Given the description of an element on the screen output the (x, y) to click on. 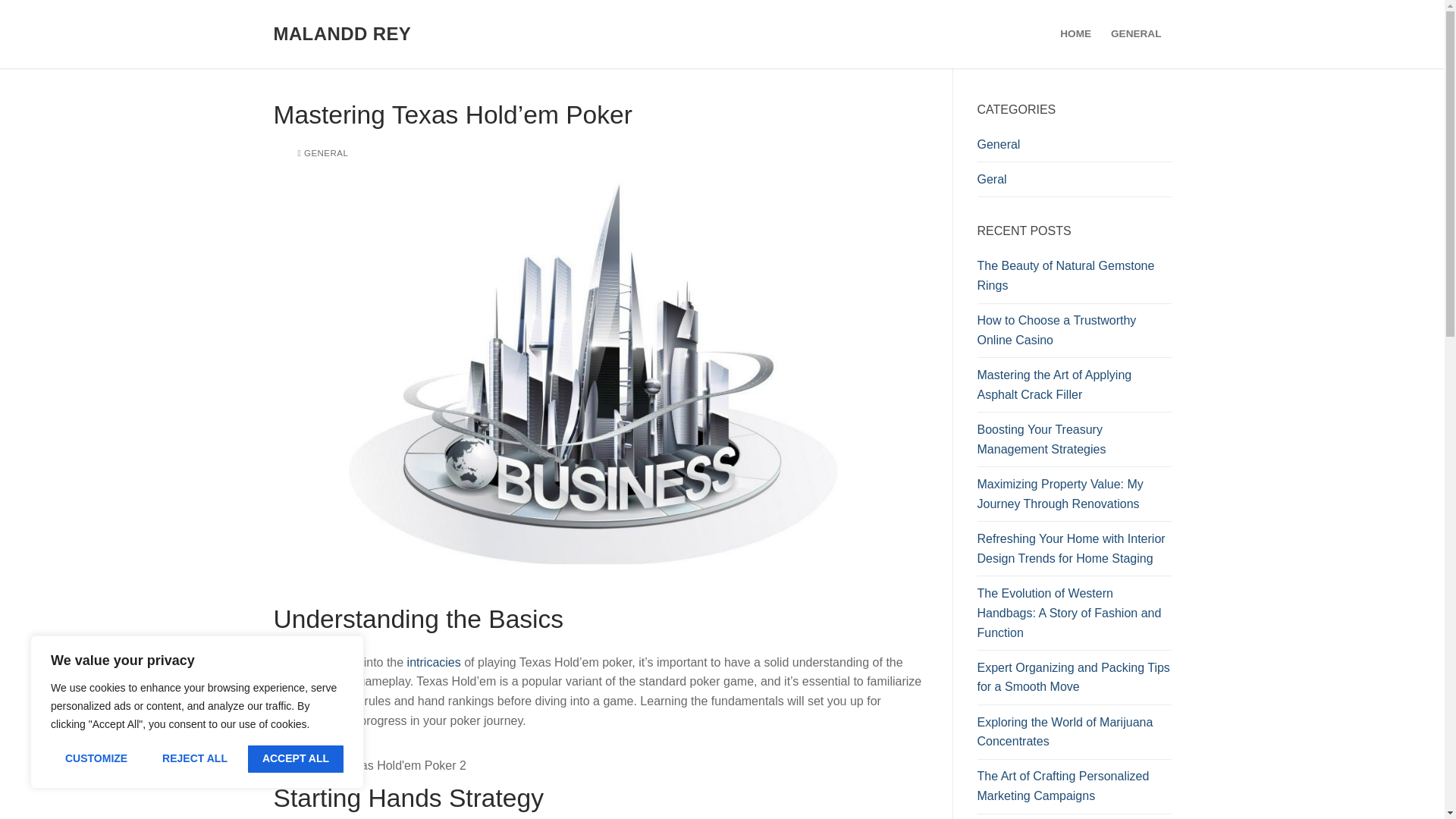
Mastering the Art of Applying Asphalt Crack Filler (1073, 388)
REJECT ALL (194, 759)
Geral (1073, 183)
General (1073, 148)
The Beauty of Natural Gemstone Rings (1073, 279)
Maximizing Property Value: My Journey Through Renovations (1073, 498)
Boosting Your Treasury Management Strategies (1073, 443)
ACCEPT ALL (295, 759)
GENERAL (1135, 33)
intricacies (434, 661)
GENERAL (322, 153)
CUSTOMIZE (95, 759)
MALANDD REY (341, 33)
How to Choose a Trustworthy Online Casino (1073, 334)
